Given the description of an element on the screen output the (x, y) to click on. 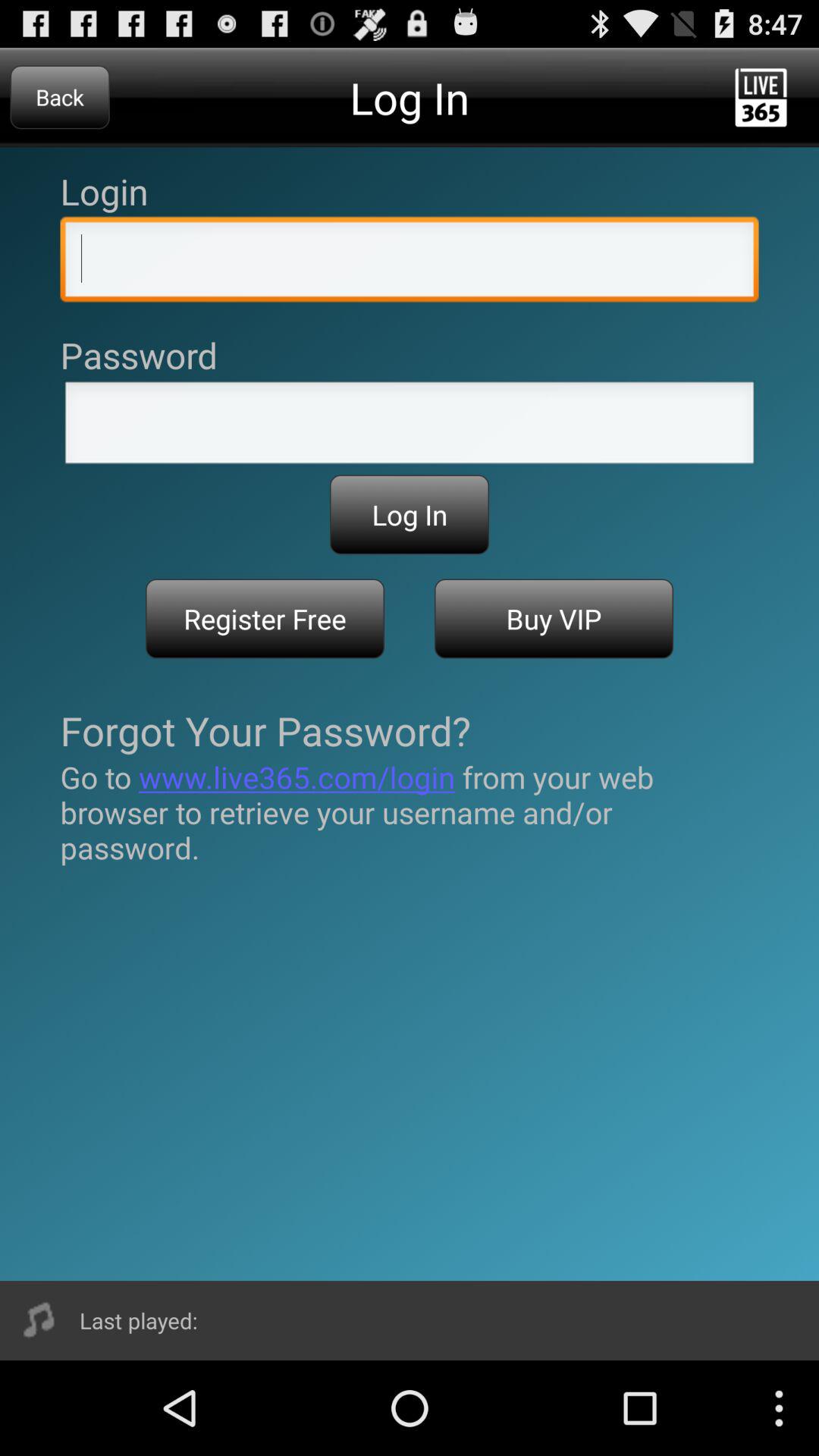
turn on icon to the right of register free item (553, 618)
